Given the description of an element on the screen output the (x, y) to click on. 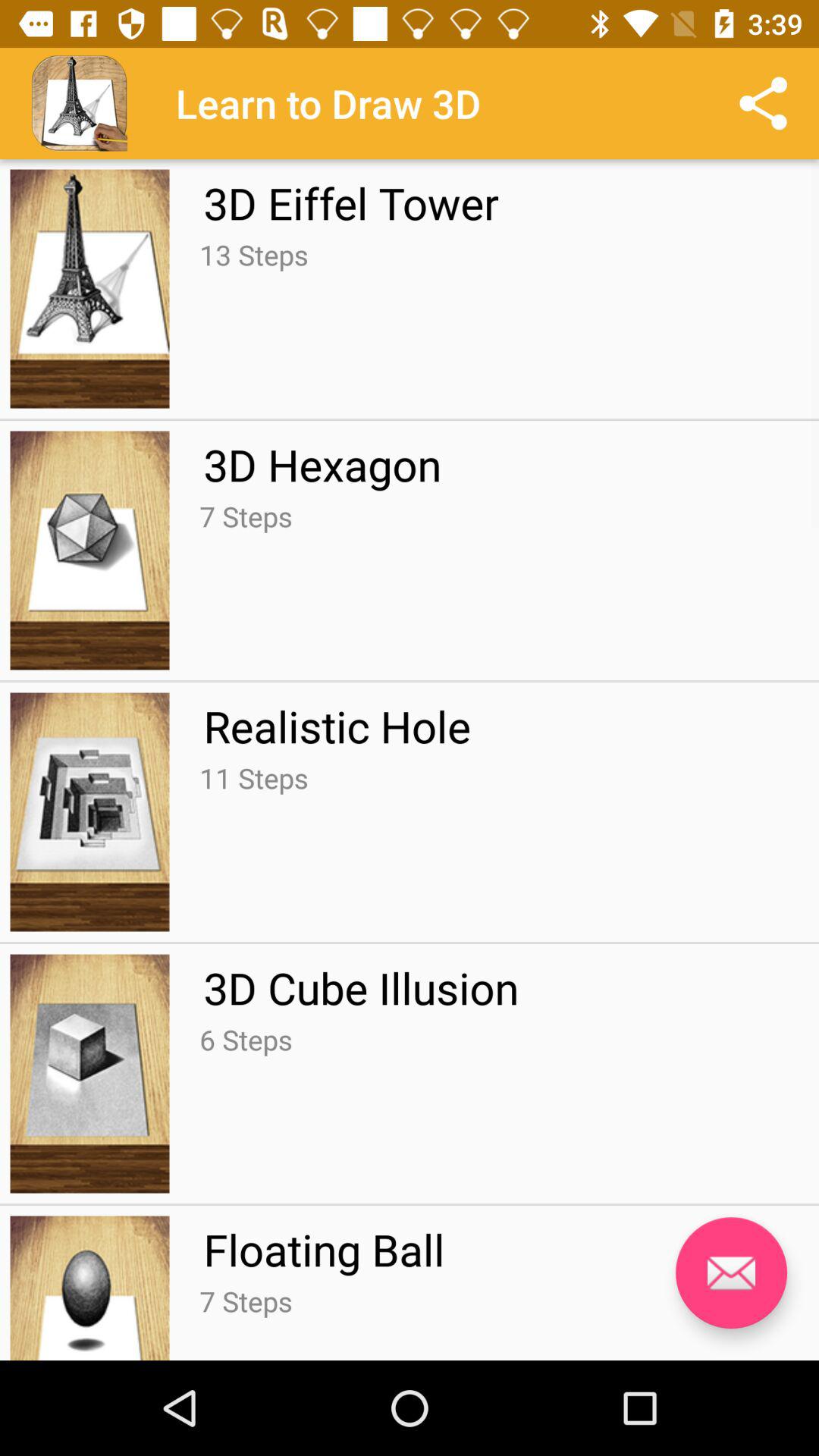
launch the item above 7 steps (323, 1248)
